Given the description of an element on the screen output the (x, y) to click on. 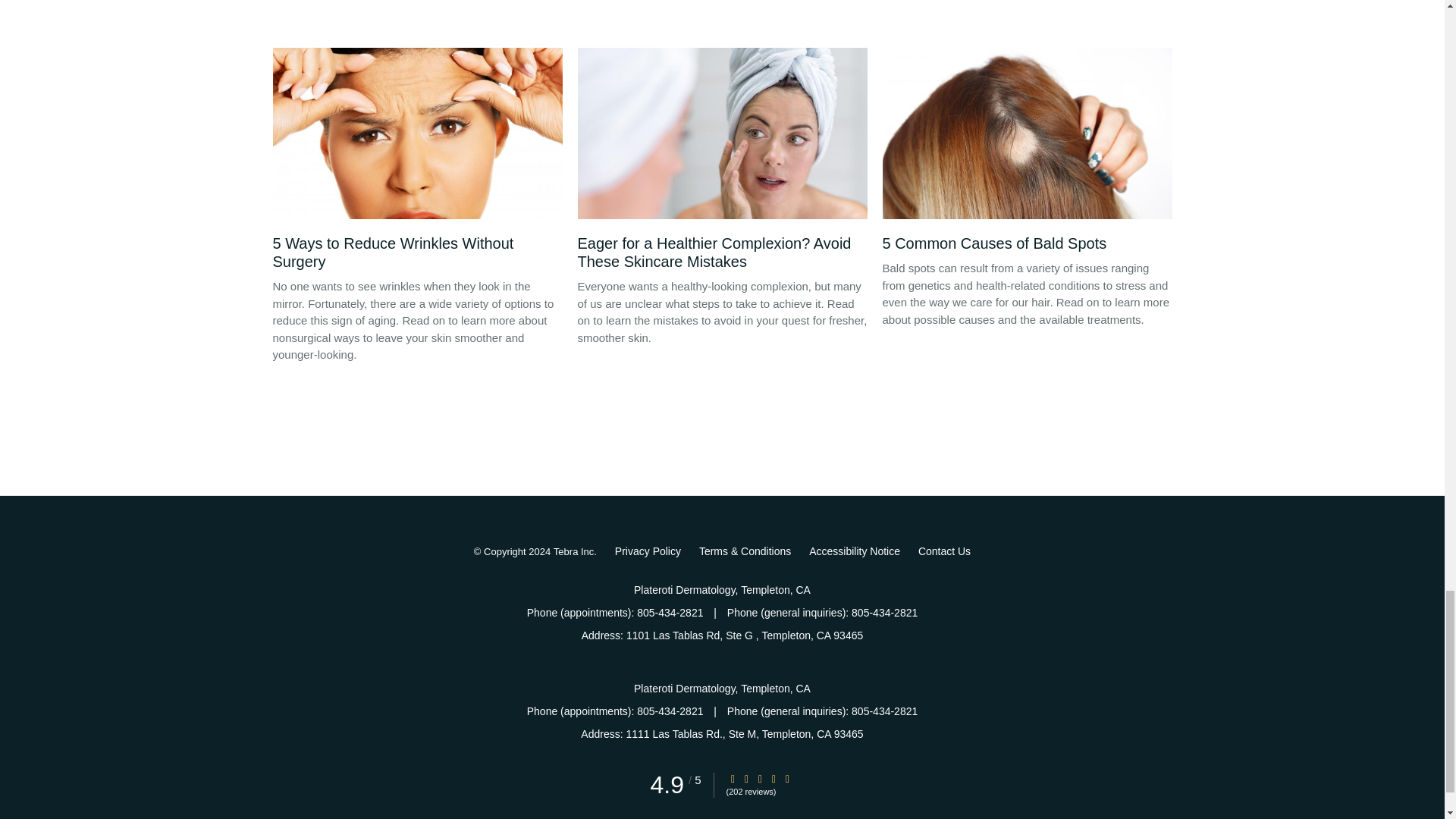
Star Rating (788, 778)
Star Rating (746, 778)
Star Rating (760, 778)
Star Rating (733, 778)
Star Rating (773, 778)
